Given the description of an element on the screen output the (x, y) to click on. 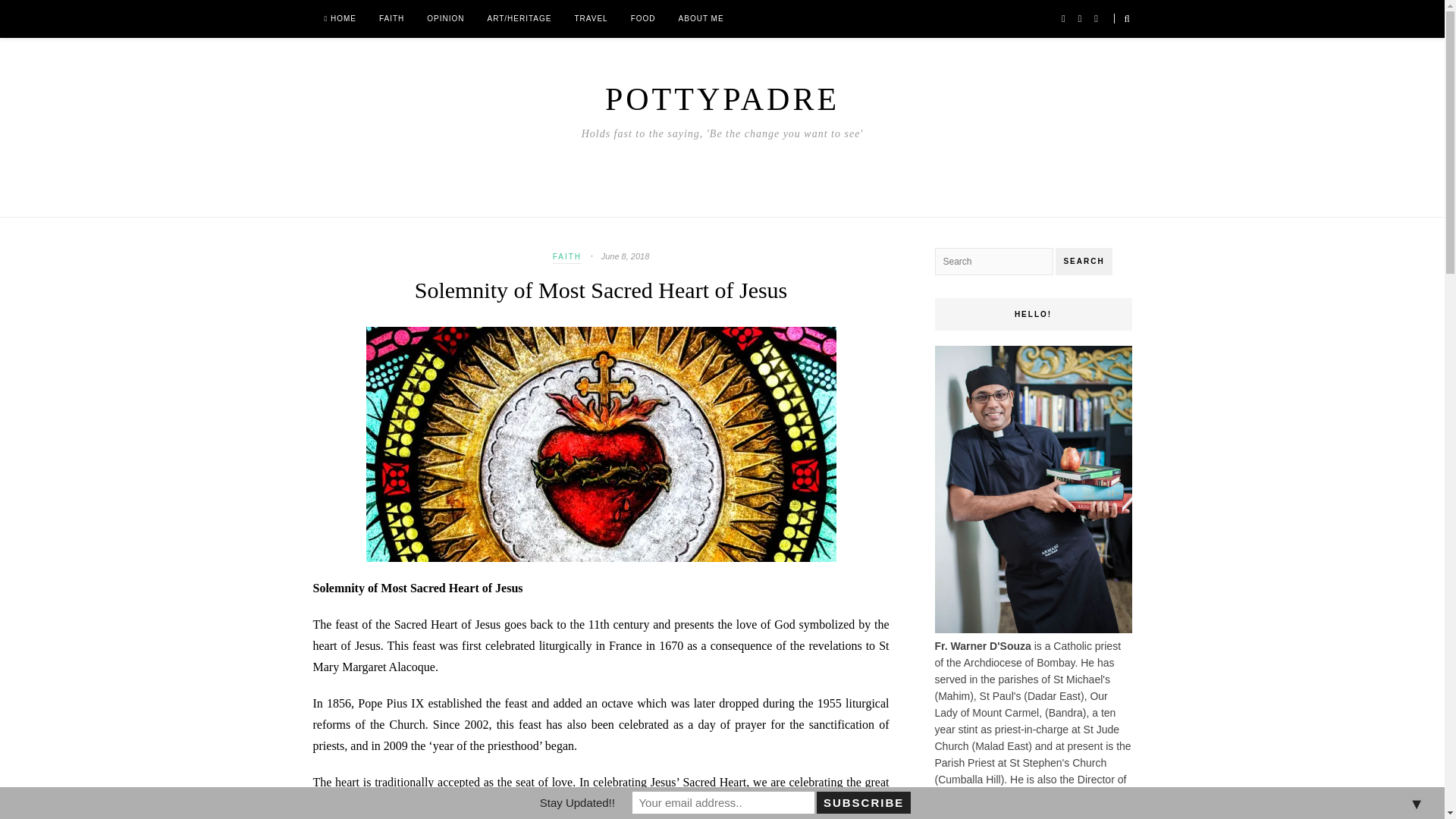
ABOUT ME (700, 18)
Subscribe (863, 802)
TRAVEL (590, 18)
POTTYPADRE (722, 99)
HOME (339, 18)
FOOD (643, 18)
FAITH (391, 18)
FAITH (566, 257)
OPINION (445, 18)
